Given the description of an element on the screen output the (x, y) to click on. 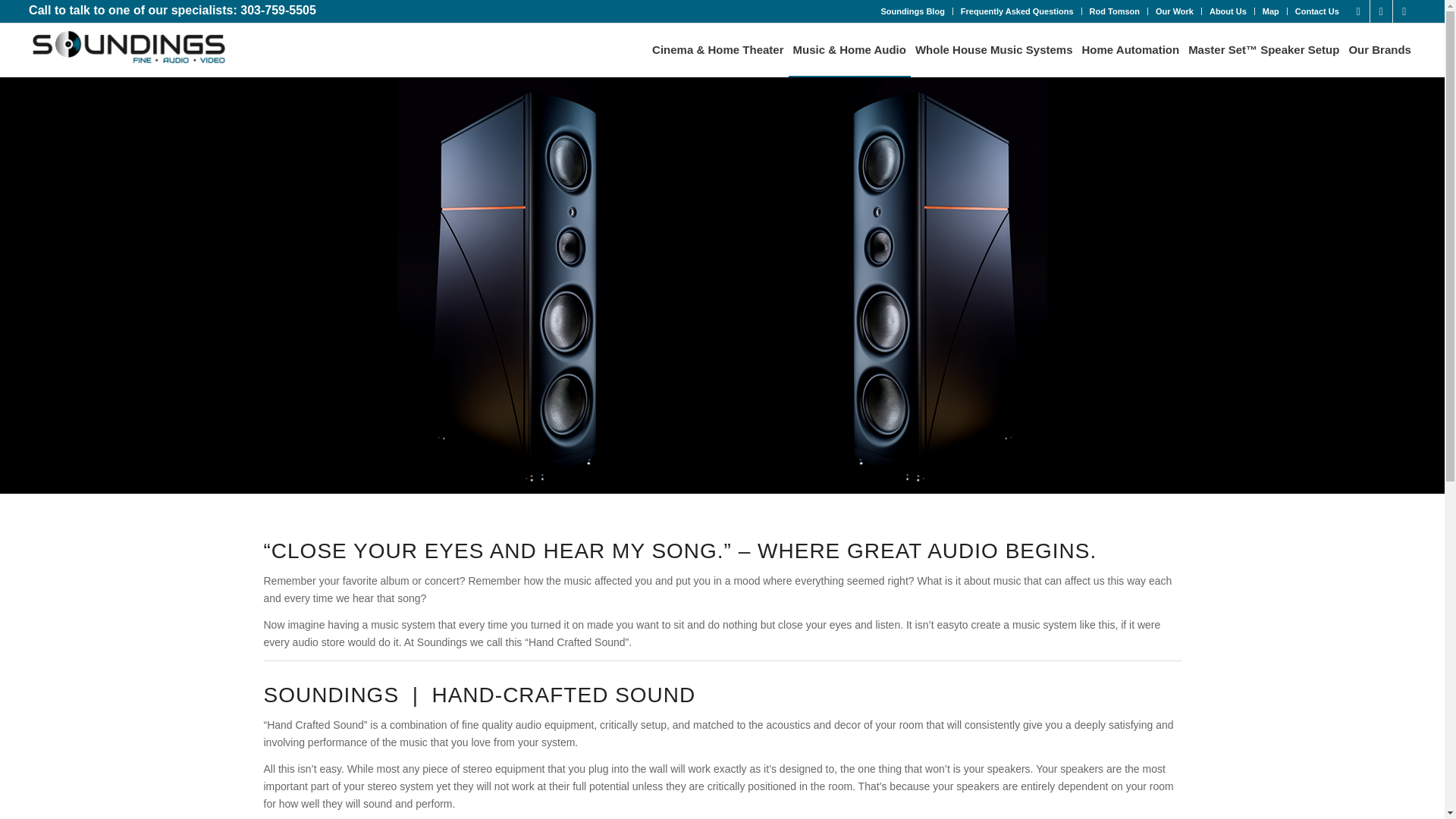
Our Brands (1379, 49)
Our Work (1174, 11)
About Us (1227, 11)
Map (1270, 11)
Contact Us (1317, 11)
Frequently Asked Questions (1017, 11)
Whole House Music Systems (994, 49)
Home Automation (1131, 49)
Facebook (1380, 11)
Rod Tomson (1114, 11)
Twitter (1359, 11)
Instagram (1404, 11)
Soundings Blog (912, 11)
